Given the description of an element on the screen output the (x, y) to click on. 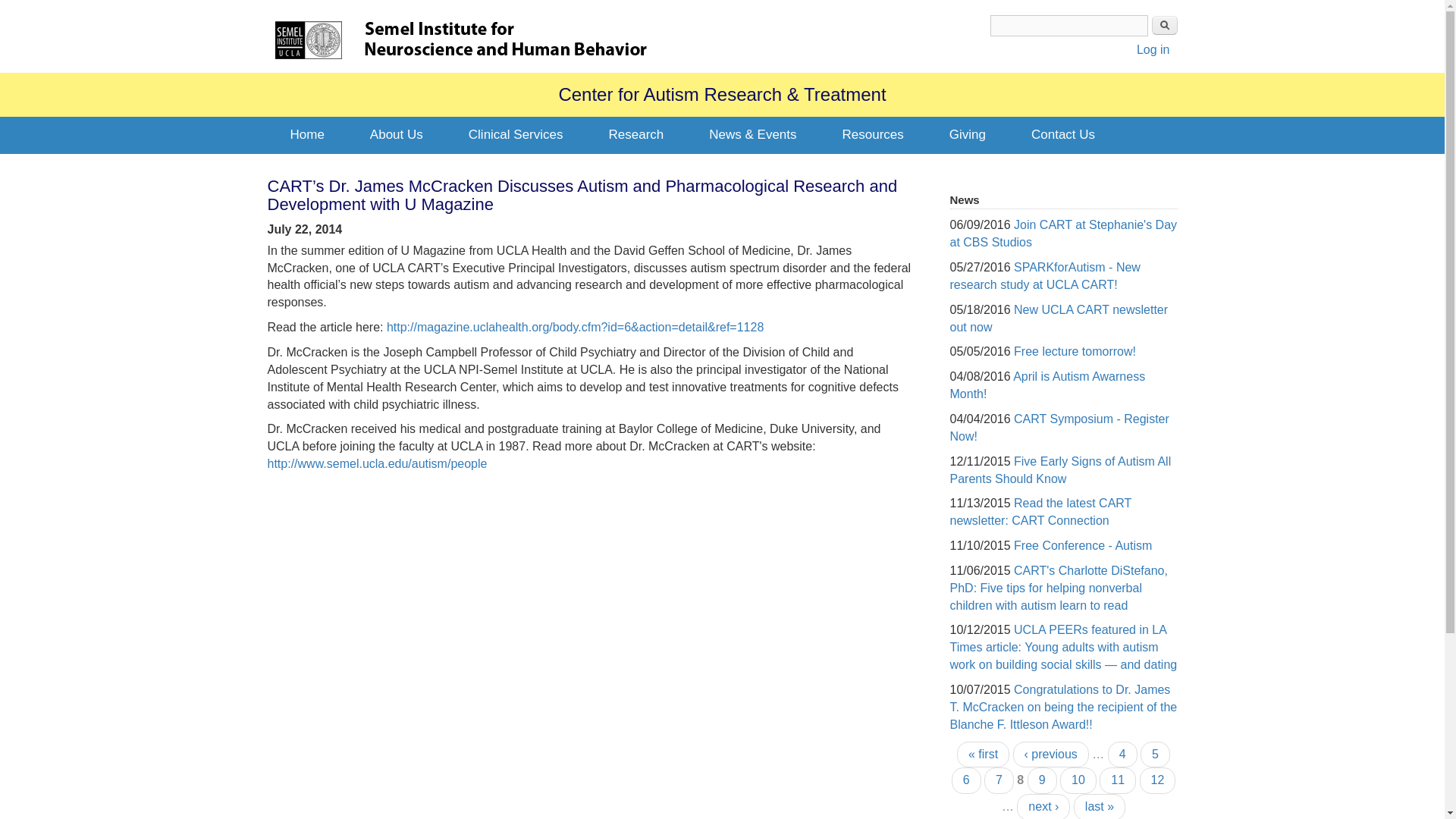
Go to last page (1099, 806)
Go to first page (982, 755)
Search (1163, 25)
Search (1163, 25)
Go to page 9 (1042, 780)
Go to page 4 (1122, 755)
Go to page 5 (1155, 755)
Go to page 10 (1077, 780)
Log in (1153, 49)
Go to page 12 (1158, 780)
Research (635, 135)
Go to page 6 (966, 780)
Go to page 7 (998, 780)
Home (308, 38)
Resources (872, 135)
